Given the description of an element on the screen output the (x, y) to click on. 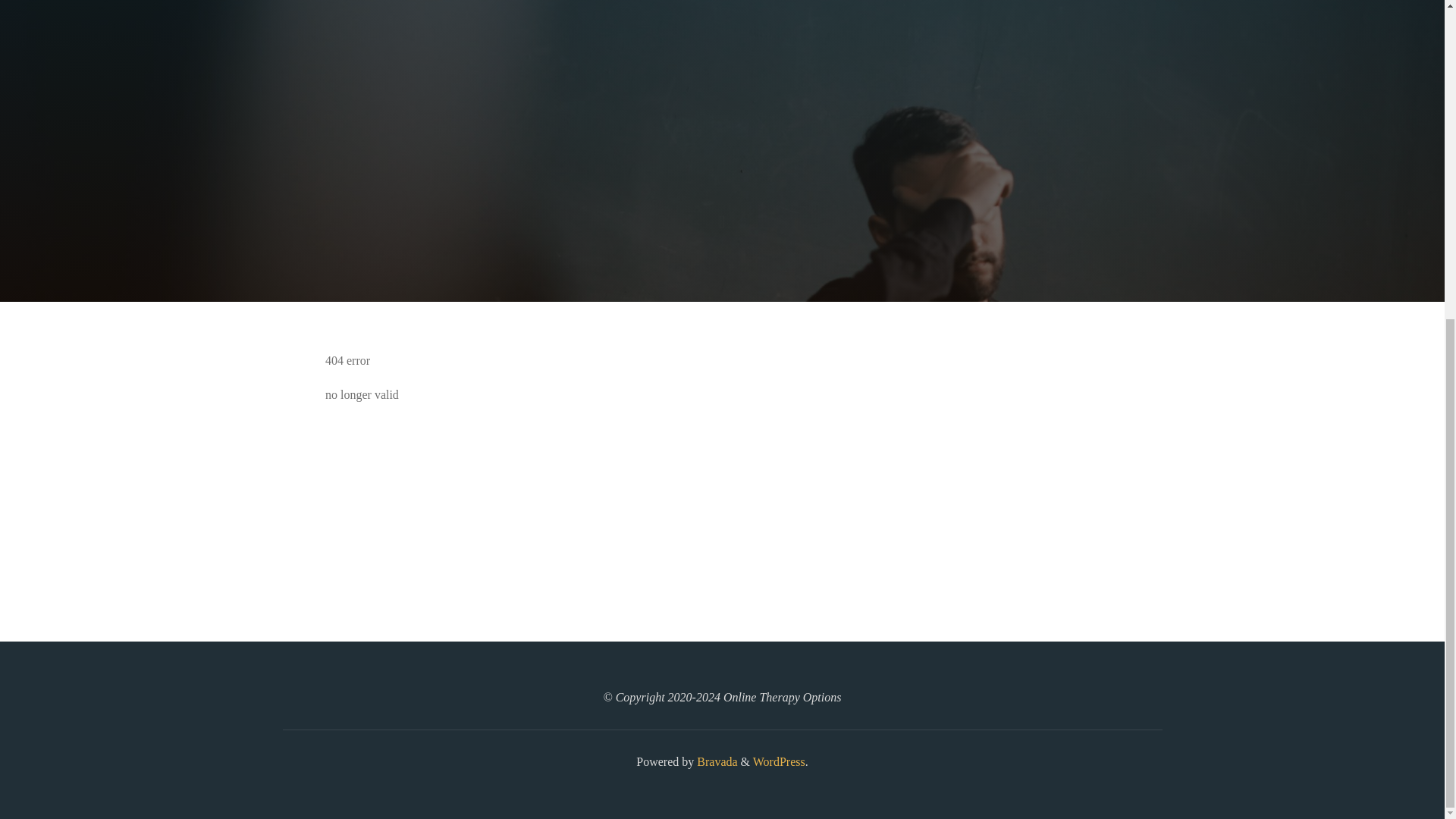
WordPress (778, 761)
Read more (721, 207)
Bravada WordPress Theme by Cryout Creations (715, 761)
Semantic Personal Publishing Platform (778, 761)
Bravada (715, 761)
